Given the description of an element on the screen output the (x, y) to click on. 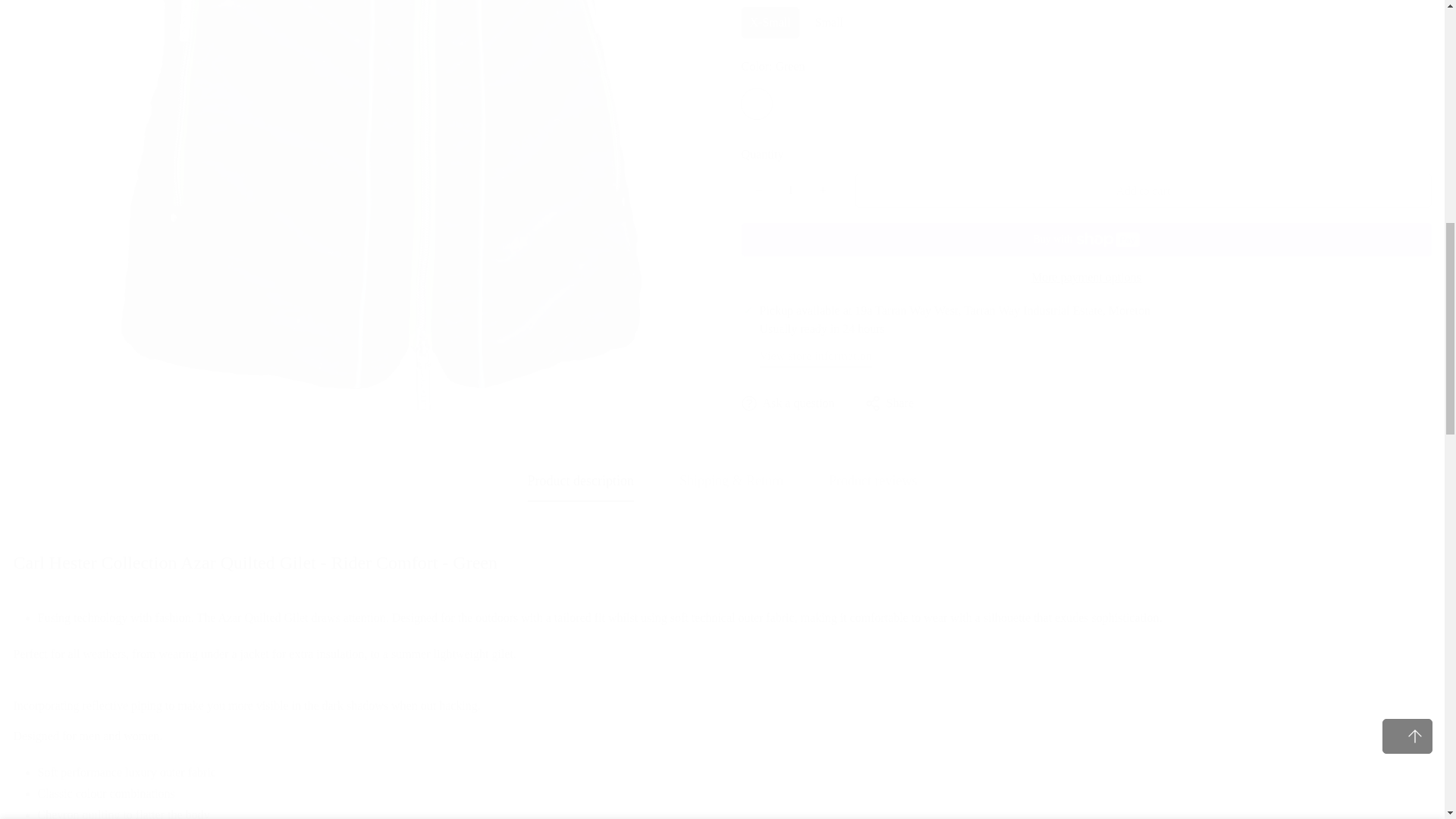
1 (1261, 28)
